Given the description of an element on the screen output the (x, y) to click on. 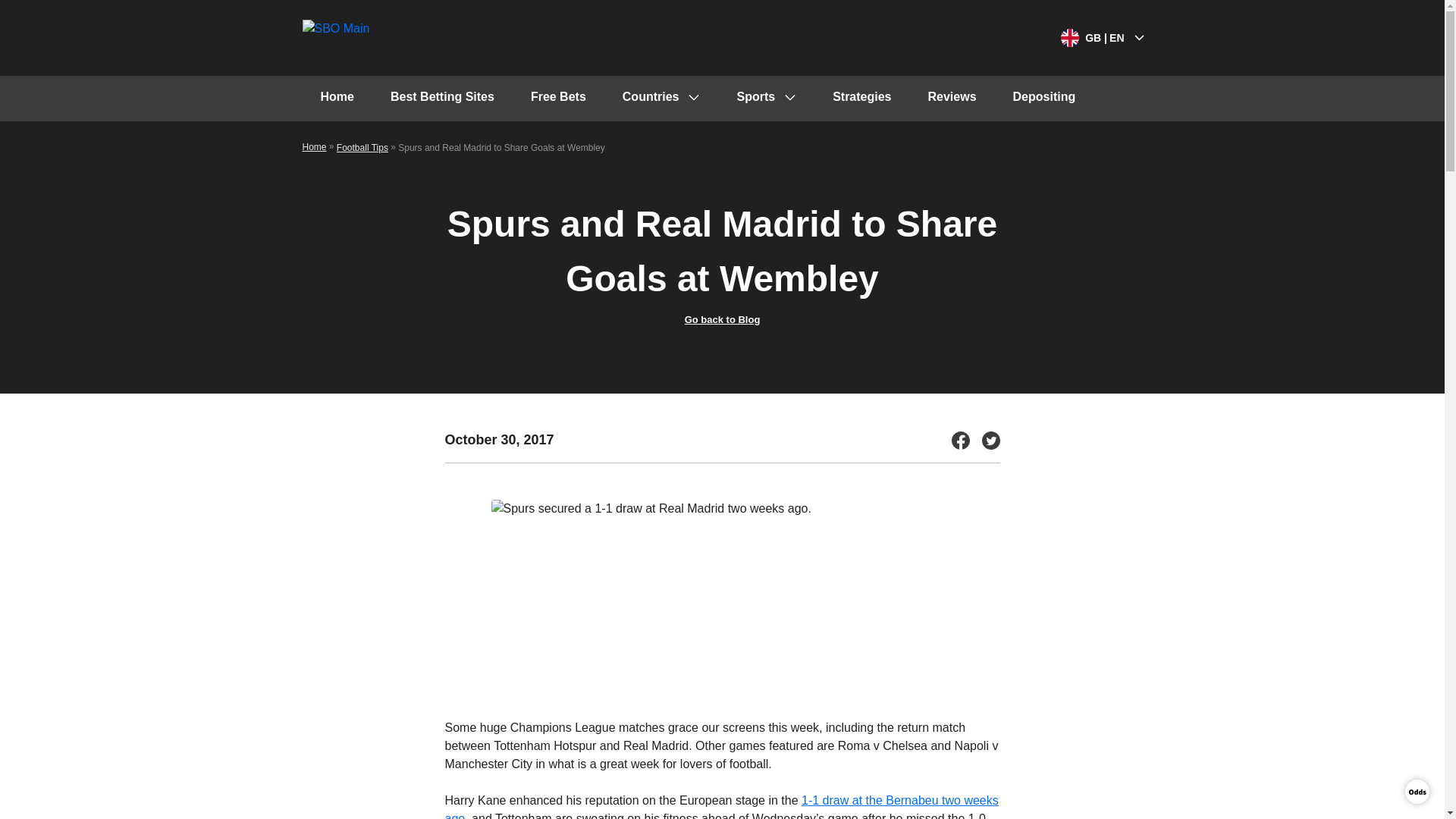
Countries (661, 98)
Football Tips (362, 147)
1-1 draw at the Bernabeu two weeks ago (720, 806)
Best Betting Sites (442, 98)
Strategies (860, 98)
Go back to Blog (722, 319)
Free Bets (558, 98)
Depositing (1044, 98)
Sports (765, 98)
Home (313, 146)
